Given the description of an element on the screen output the (x, y) to click on. 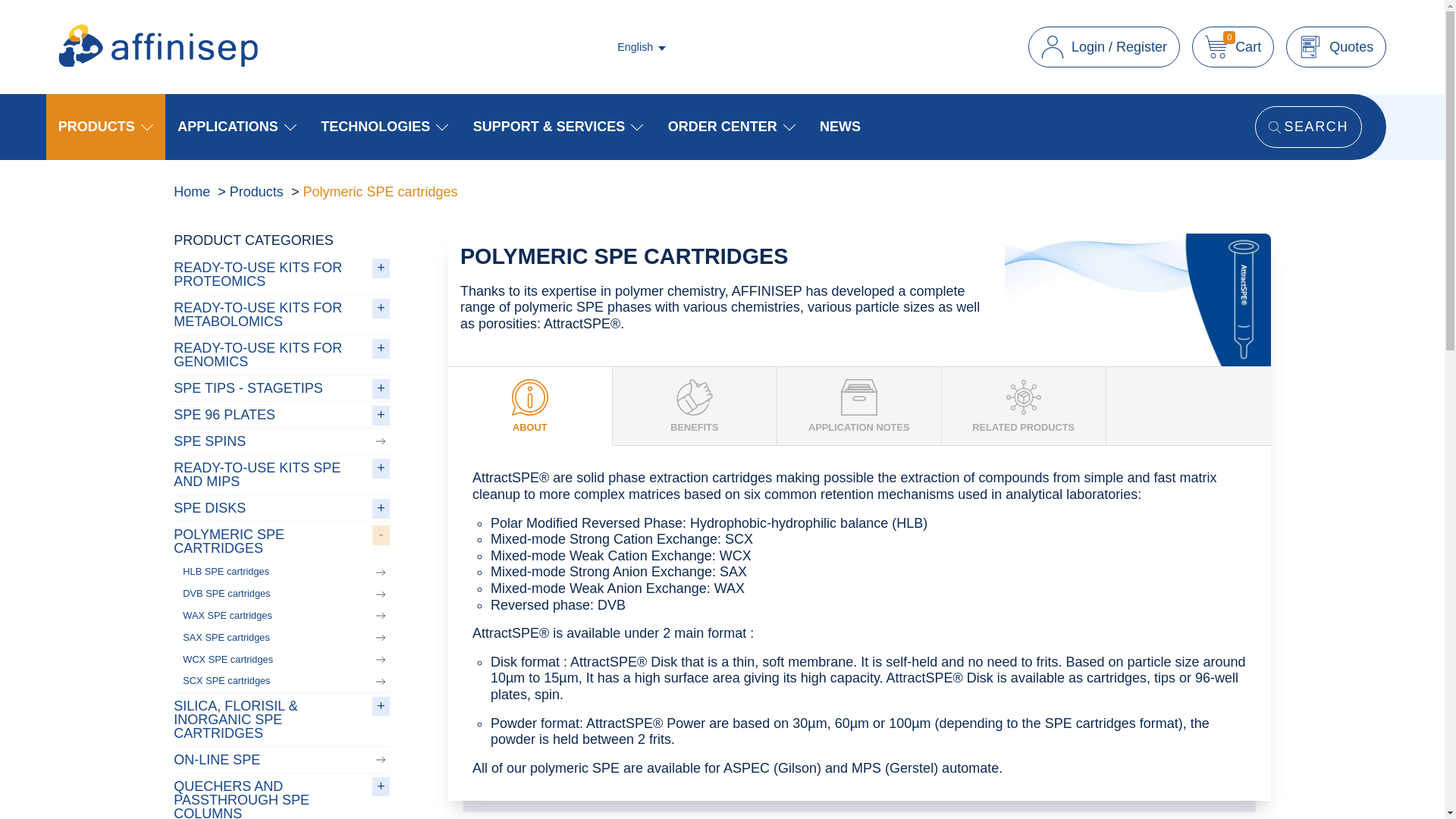
Affinisep (157, 62)
APPLICATIONS (236, 126)
English (642, 46)
Quotes (1335, 46)
PRODUCTS (1233, 46)
